Given the description of an element on the screen output the (x, y) to click on. 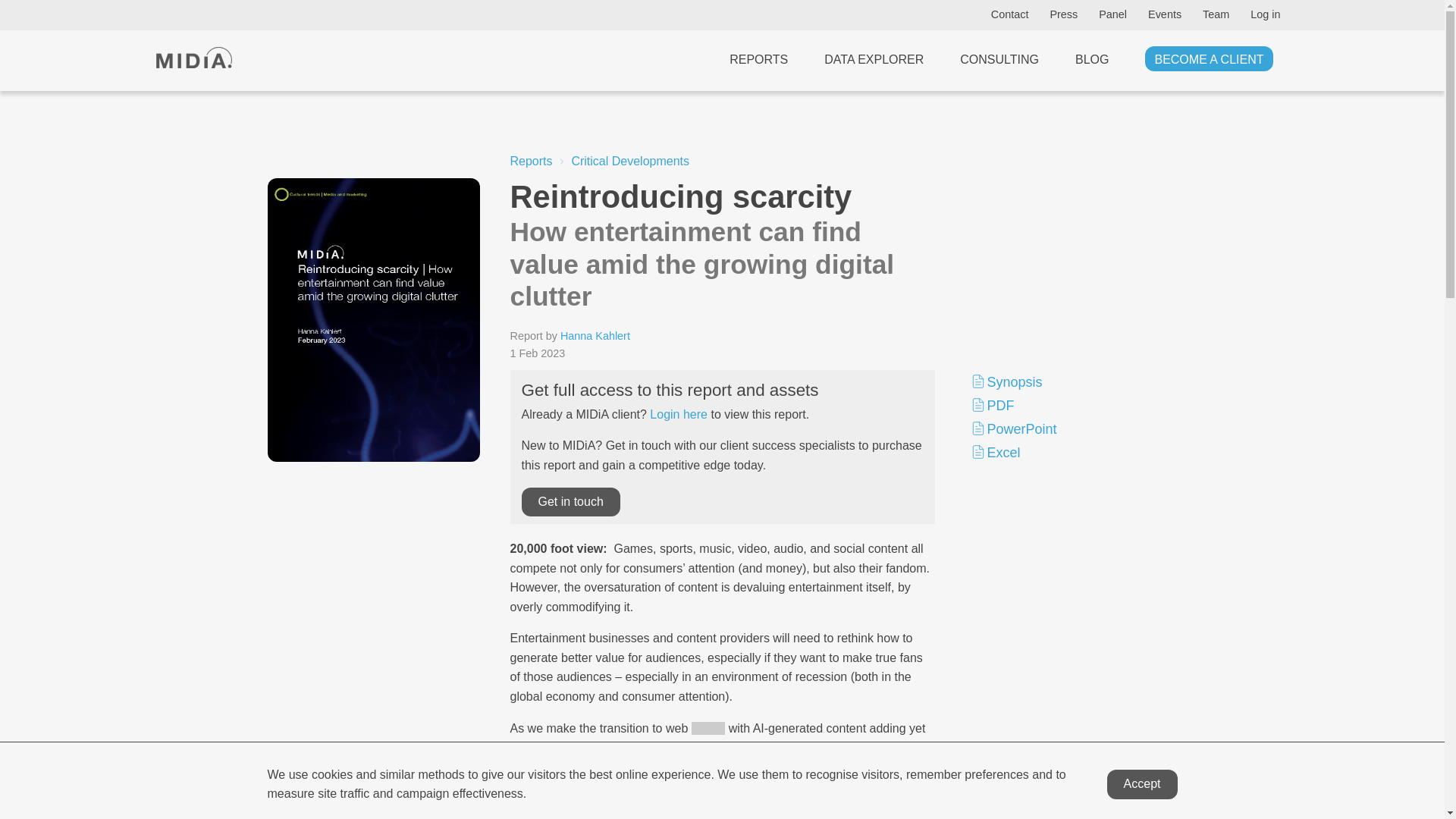
Download Synopsis (1069, 381)
Log in (1265, 14)
BECOME A CLIENT (1208, 55)
Download PowerPoint (1069, 428)
Hanna Kahlert (595, 336)
Events (1164, 14)
Panel (1112, 14)
Download Excel (1069, 452)
Synopsis (1069, 381)
CONSULTING (999, 55)
